Given the description of an element on the screen output the (x, y) to click on. 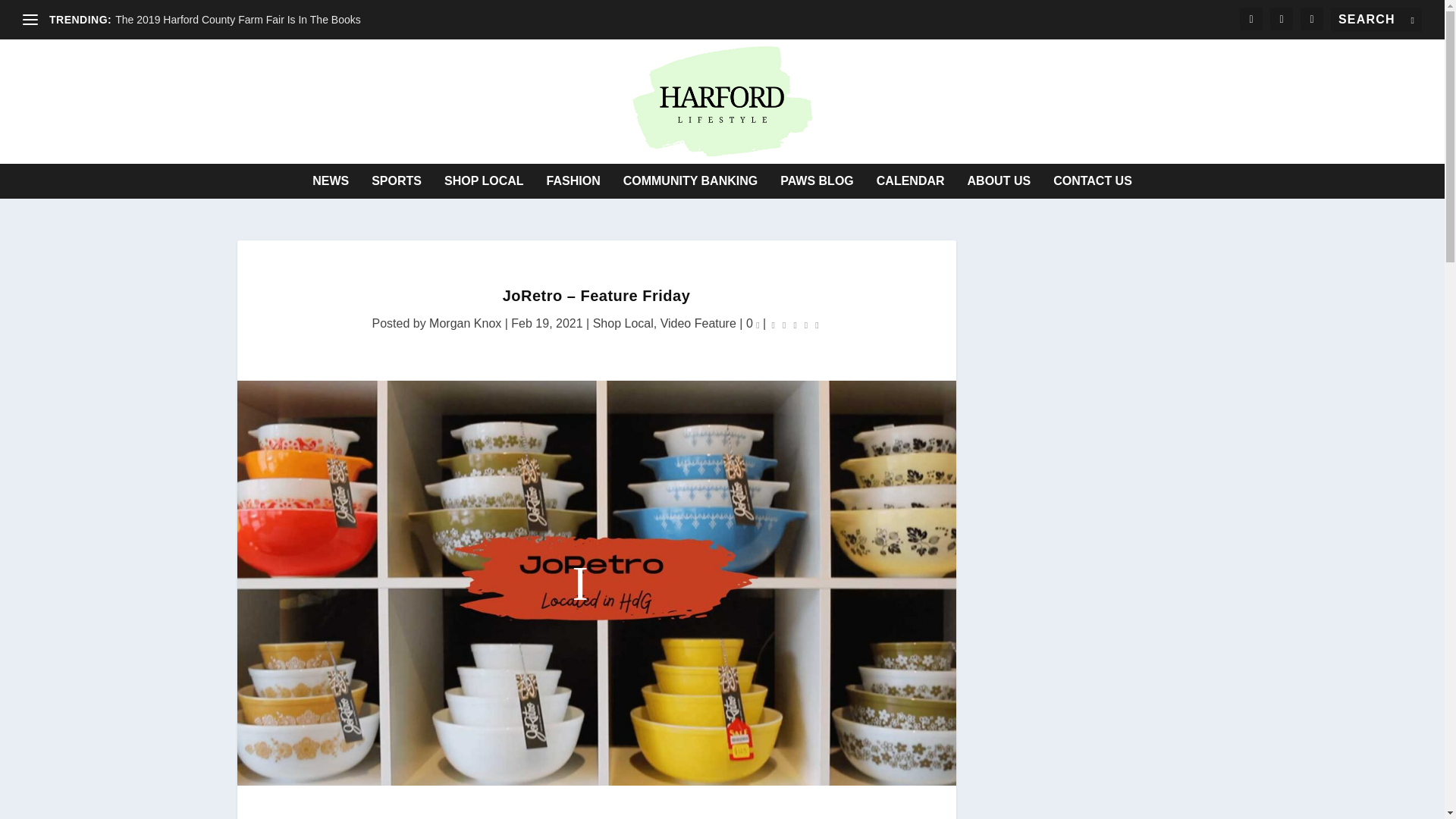
NEWS (331, 181)
Video Feature (698, 323)
CONTACT US (1092, 181)
SPORTS (396, 181)
Posts by Morgan Knox (464, 323)
Search for: (1376, 19)
CALENDAR (910, 181)
COMMUNITY BANKING (690, 181)
Rating: 3.00 (795, 323)
The 2019 Harford County Farm Fair Is In The Books (237, 19)
ABOUT US (999, 181)
PAWS BLOG (816, 181)
Morgan Knox (464, 323)
FASHION (573, 181)
Shop Local (622, 323)
